Given the description of an element on the screen output the (x, y) to click on. 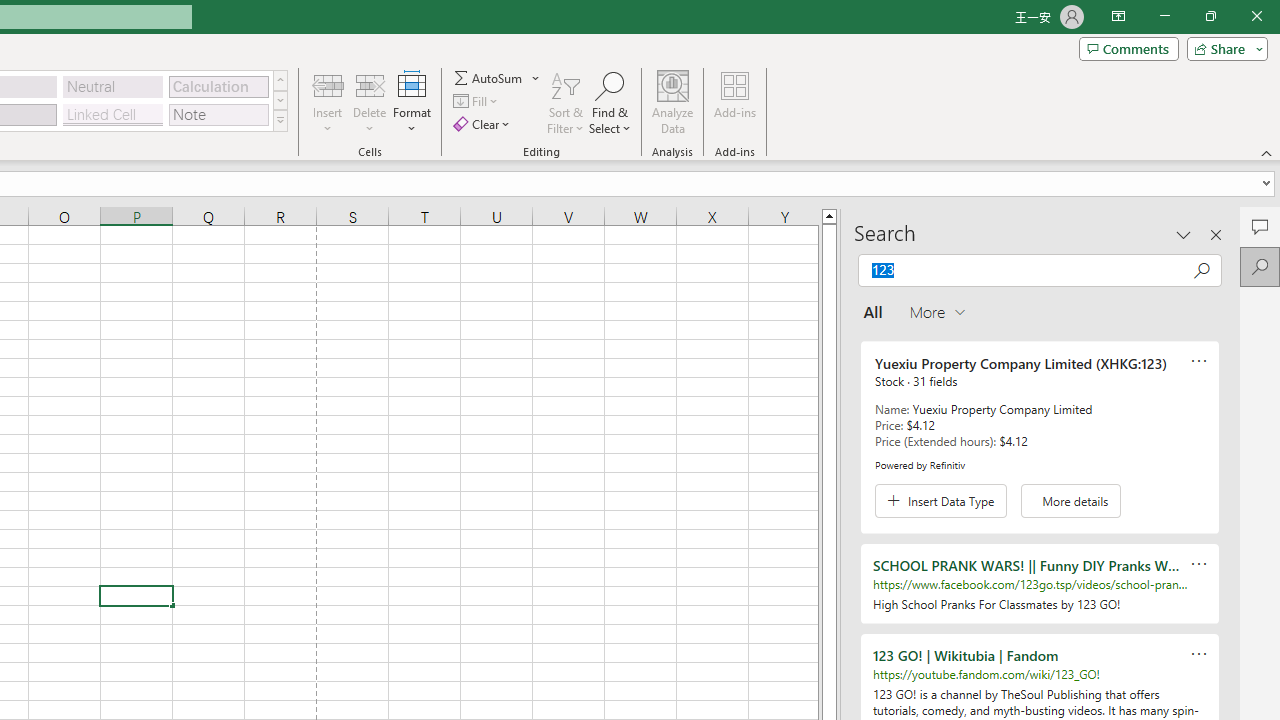
Ribbon Display Options (1118, 16)
Sum (489, 78)
Find & Select (610, 102)
Calculation (218, 86)
Note (218, 114)
Neutral (113, 86)
Analyze Data (673, 102)
Collapse the Ribbon (1267, 152)
AutoSum (497, 78)
Search (1260, 266)
Row up (280, 79)
Format (411, 102)
Insert (328, 102)
Close pane (1215, 234)
